Given the description of an element on the screen output the (x, y) to click on. 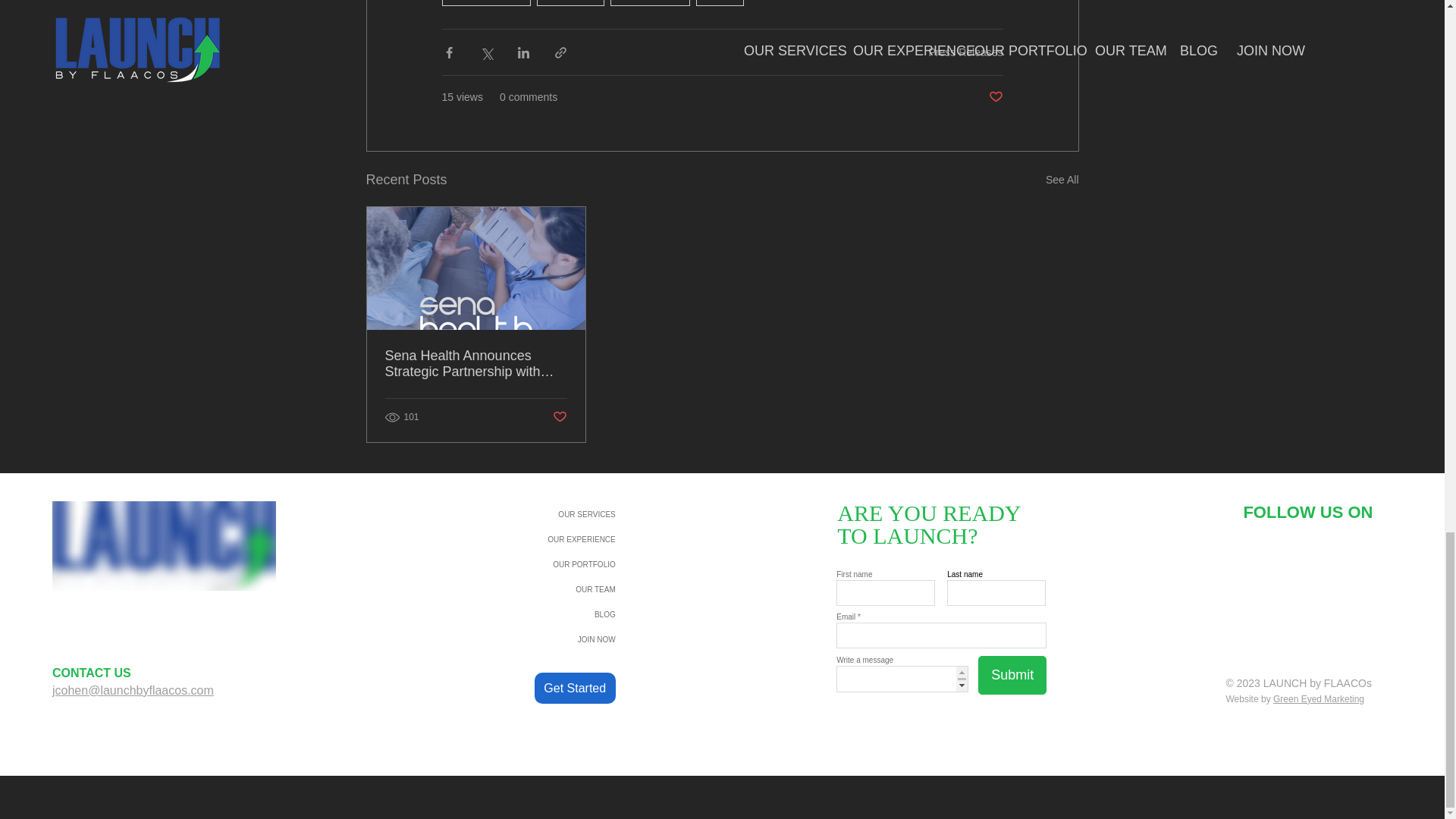
BLOG (561, 614)
Press Releases (965, 51)
Press Release (485, 2)
FLAACOs (570, 2)
OUR SERVICES (561, 514)
OUR PORTFOLIO (561, 564)
Post not marked as liked (558, 417)
OUR TEAM (561, 589)
Value-Based (650, 2)
